Given the description of an element on the screen output the (x, y) to click on. 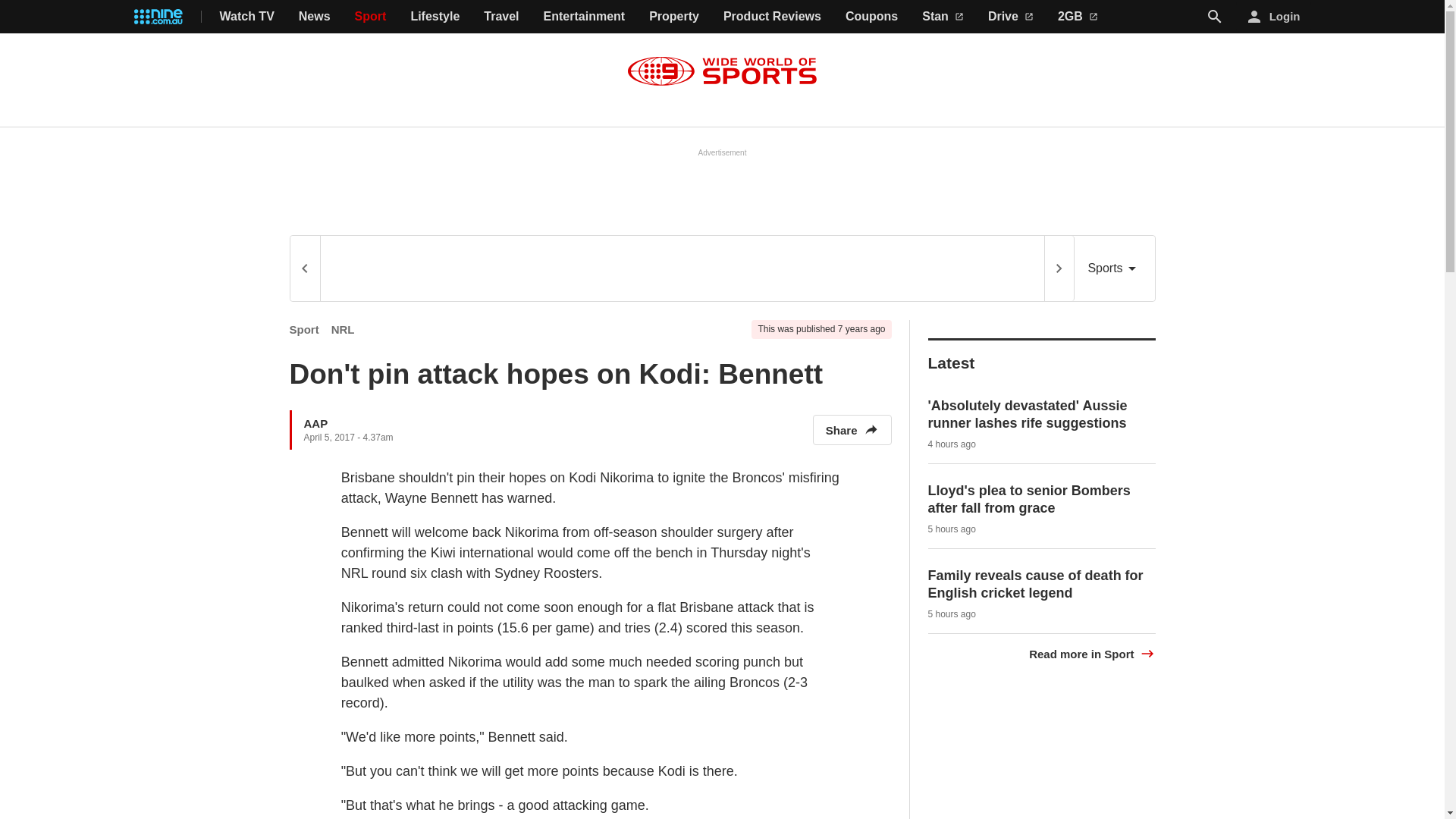
Entertainment (584, 16)
Lifestyle (435, 16)
Watch TV (247, 16)
Login (1273, 16)
Travel (500, 16)
NRL (343, 328)
Family reveals cause of death for English cricket legend (1035, 584)
Search (1214, 16)
News (314, 16)
Lloyd's plea to senior Bombers after fall from grace (1029, 499)
